Given the description of an element on the screen output the (x, y) to click on. 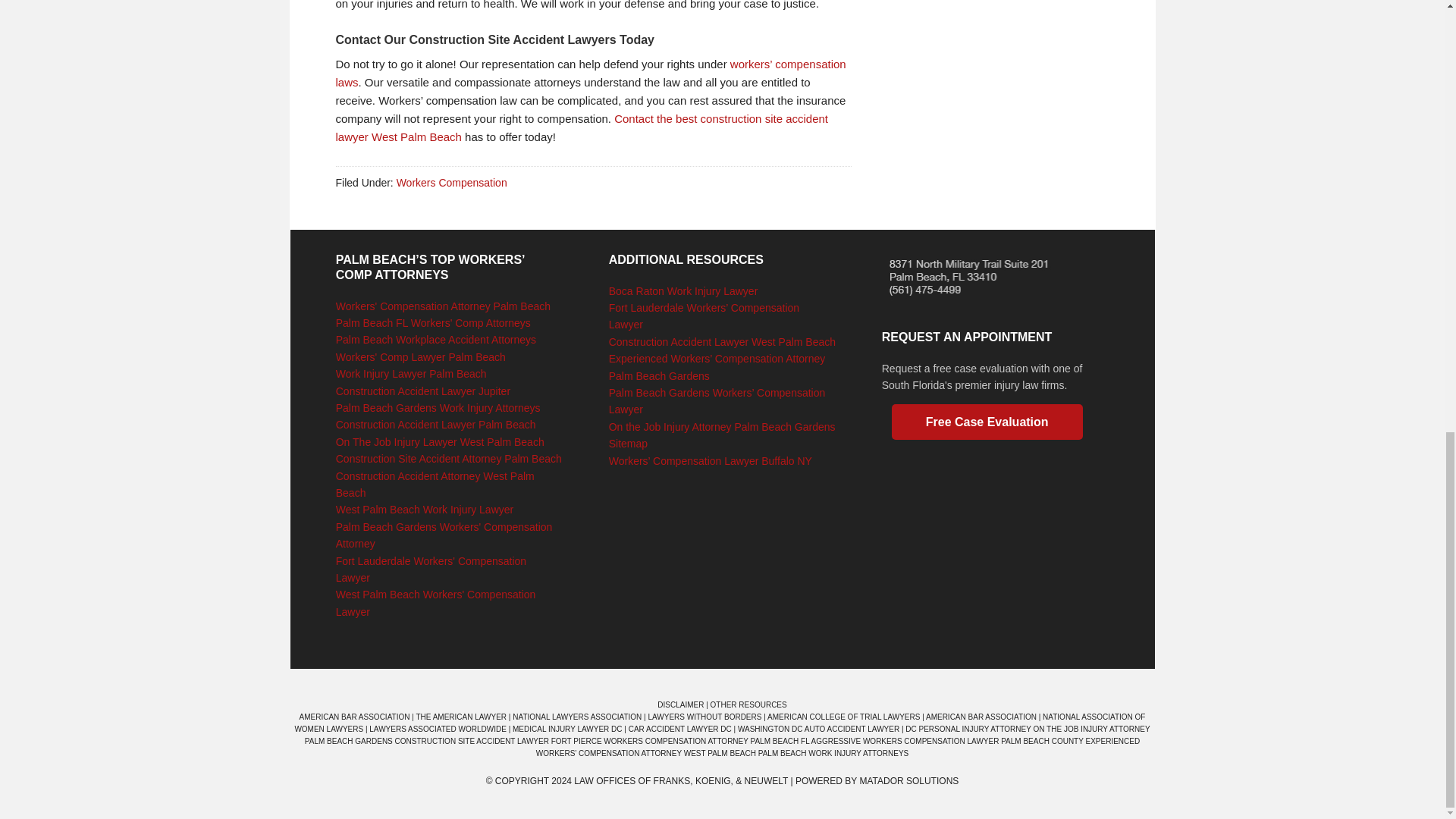
Construction Accident Lawyer Jupiter (423, 390)
Workers' Compensation Attorney Palm Beach (443, 306)
Workers Compensation (451, 182)
Work Injury Lawyer Palm Beach (411, 373)
Palm Beach Workplace Accident Attorneys (435, 339)
Palm Beach FL Workers' Comp Attorneys (433, 322)
Palm Beach Gardens Work Injury Attorneys (438, 408)
Construction Accident Attorney West Palm Beach (435, 484)
Construction Site Accident Attorney Palm Beach (449, 458)
Construction Accident Lawyer Palm Beach (435, 424)
Workers' Comp Lawyer Palm Beach (420, 357)
Some Additonal Workers Compensation Info (589, 72)
On The Job Injury Lawyer West Palm Beach (440, 441)
